Given the description of an element on the screen output the (x, y) to click on. 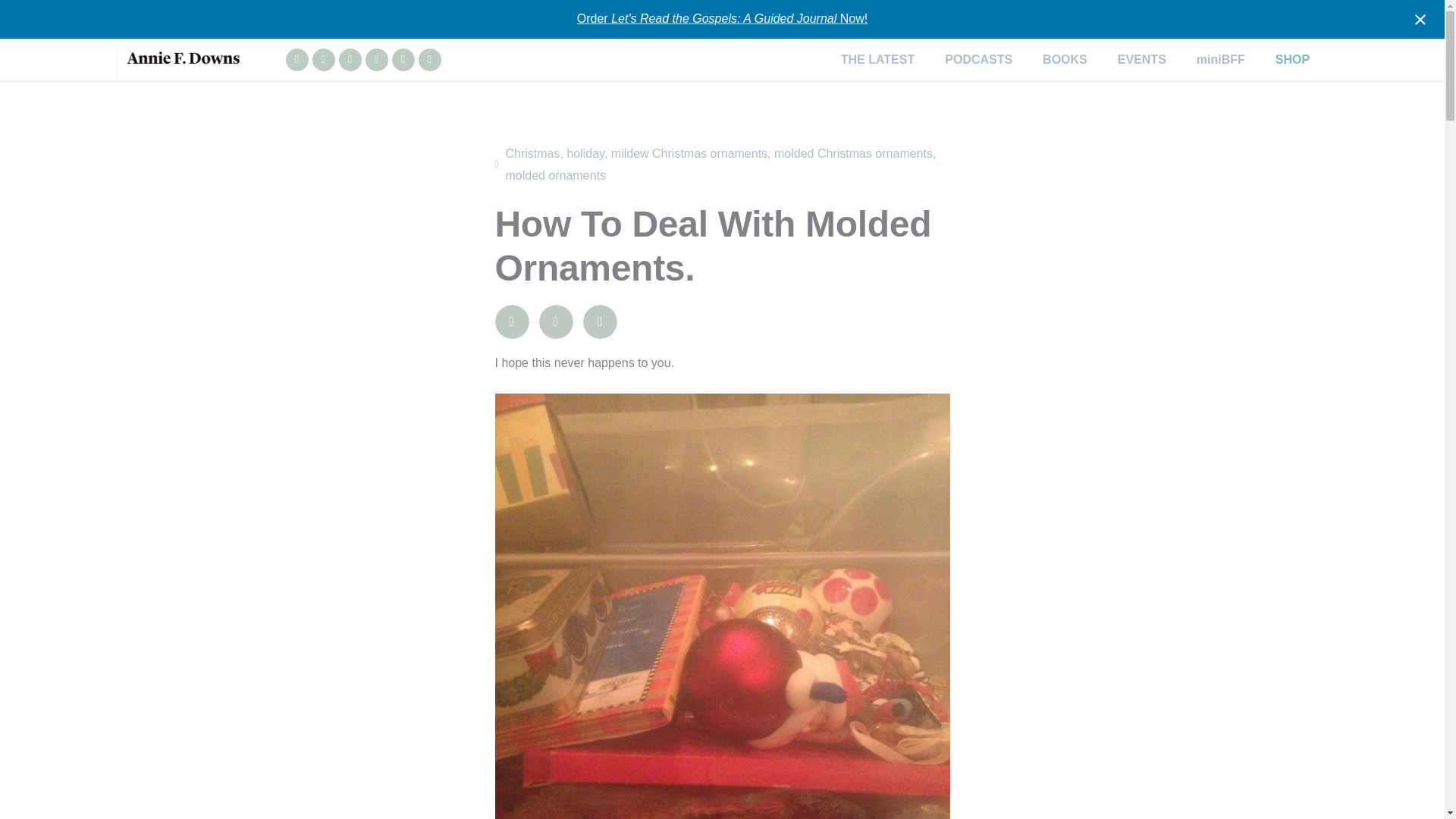
Youtube (349, 59)
Tiktok (376, 59)
Pinterest (430, 59)
PODCASTS (978, 59)
miniBFF (1220, 59)
Twitter (402, 59)
BOOKS (1064, 59)
SHOP (1292, 59)
Order Let's Read the Gospels: A Guided Journal Now! (721, 18)
Facebook (323, 59)
EVENTS (1141, 59)
THE LATEST (877, 59)
Instagram (296, 59)
